Given the description of an element on the screen output the (x, y) to click on. 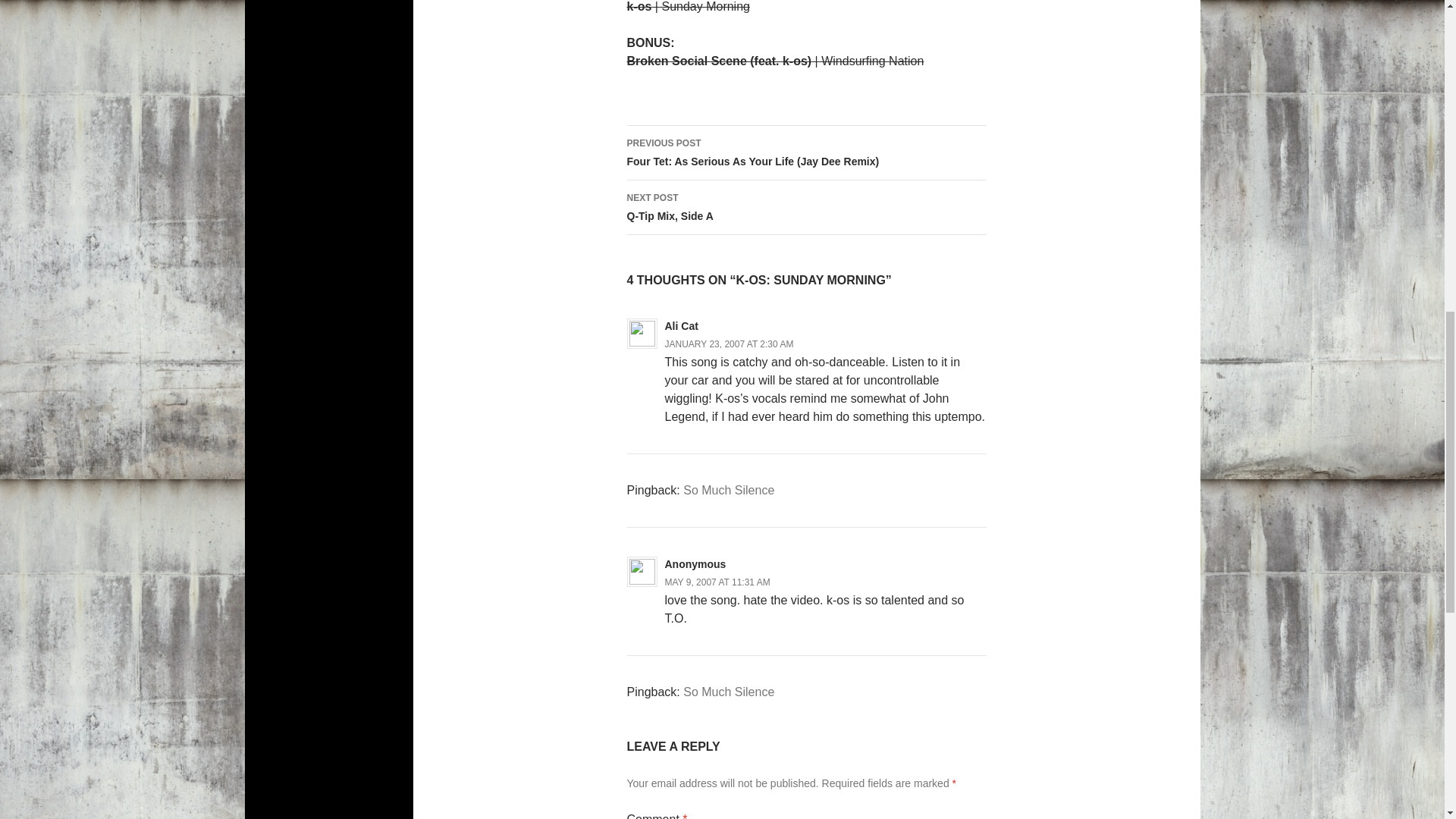
MAY 9, 2007 AT 11:31 AM (716, 582)
So Much Silence (805, 207)
So Much Silence (728, 490)
JANUARY 23, 2007 AT 2:30 AM (728, 691)
